Given the description of an element on the screen output the (x, y) to click on. 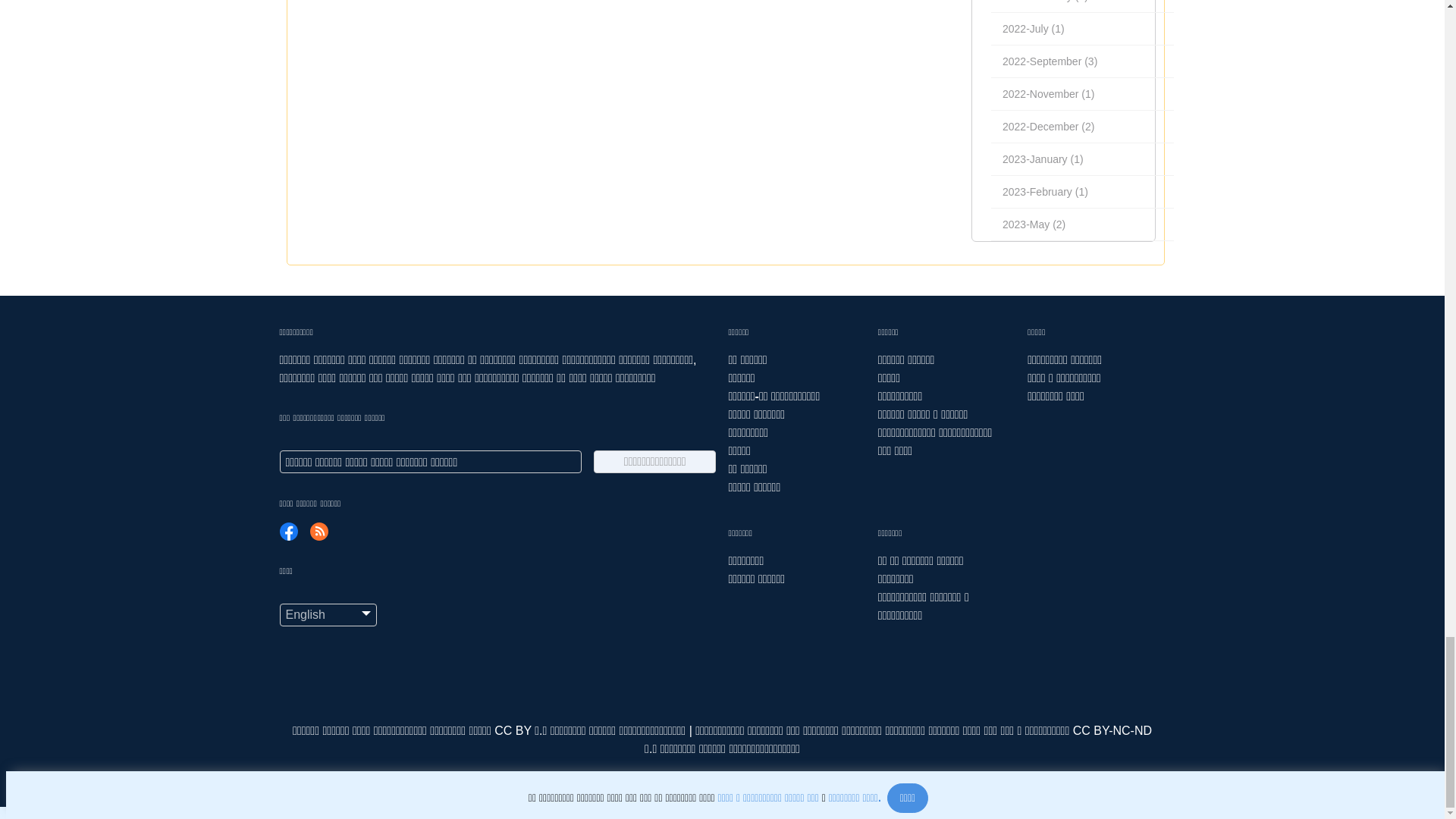
Heart (721, 772)
